Given the description of an element on the screen output the (x, y) to click on. 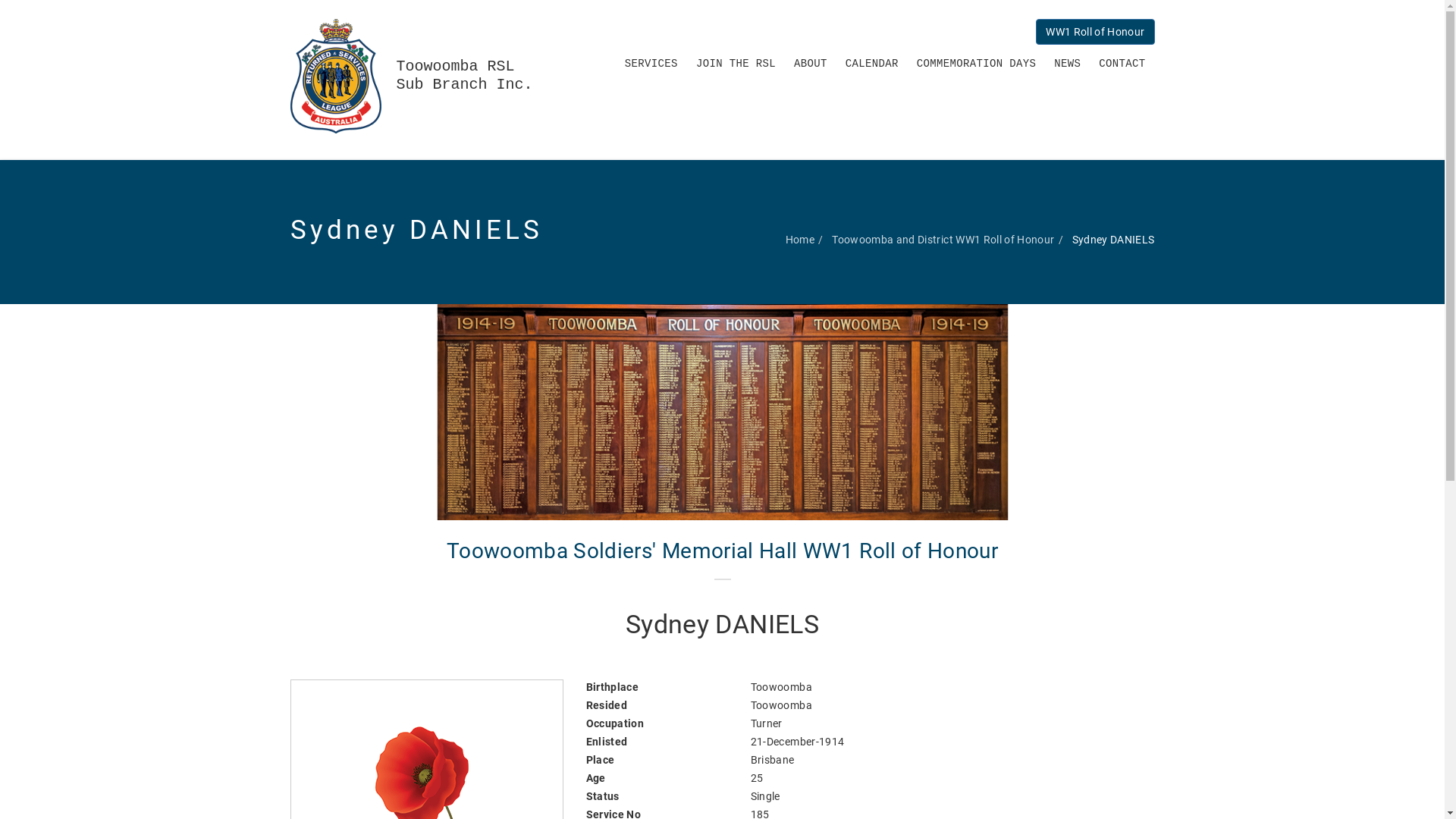
NEWS Element type: text (1066, 61)
COMMEMORATION DAYS Element type: text (976, 61)
CONTACT Element type: text (1121, 61)
Toowoomba and District WW1 Roll of Honour Element type: text (942, 239)
Home Element type: text (799, 239)
SERVICES Element type: text (651, 61)
ABOUT Element type: text (810, 61)
WW1 Roll of Honour Element type: text (1094, 31)
JOIN THE RSL Element type: text (735, 61)
Toowoomba RSL
Sub Branch Inc. Element type: text (422, 75)
CALENDAR Element type: text (871, 61)
